Given the description of an element on the screen output the (x, y) to click on. 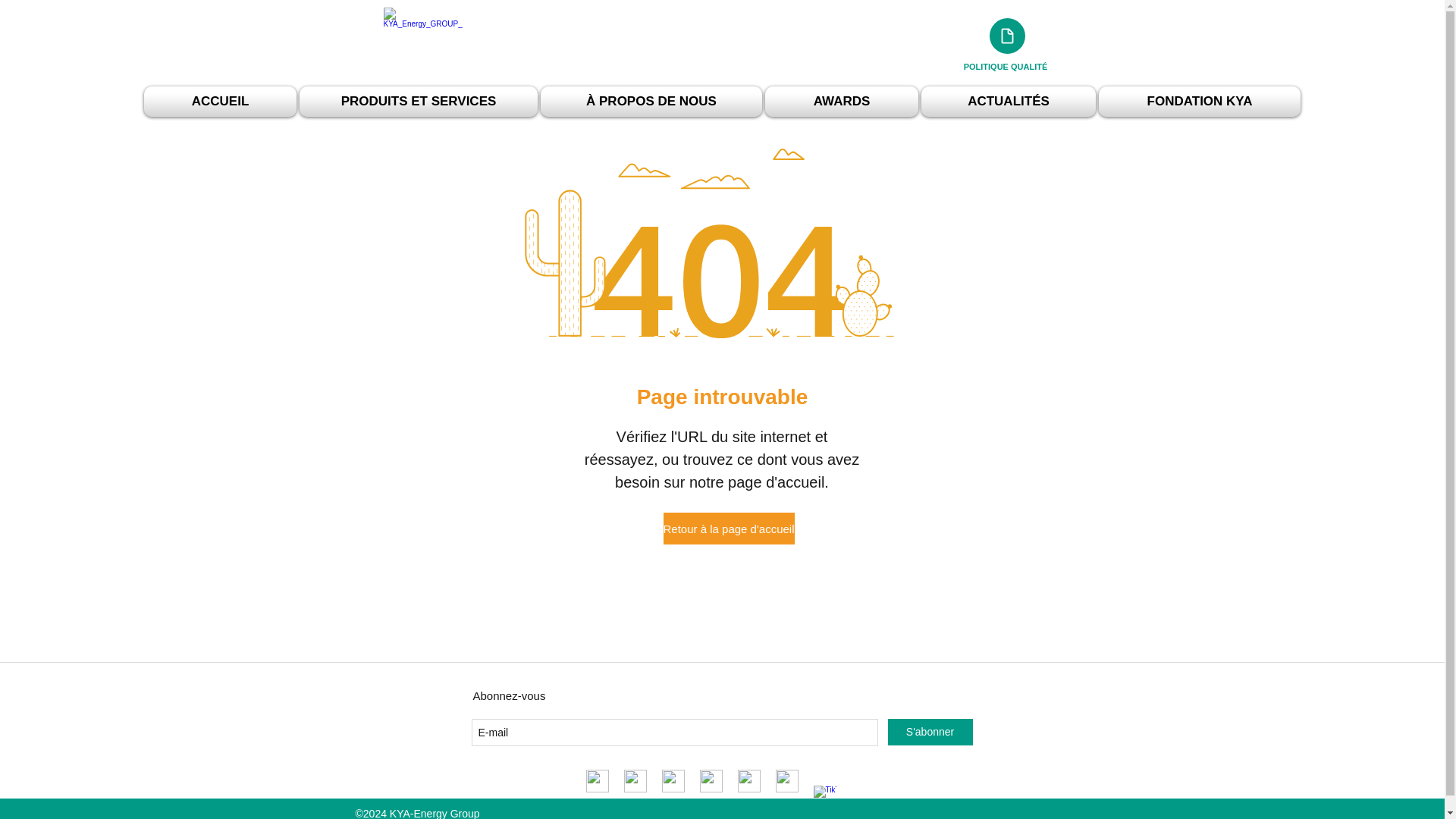
S'abonner (929, 732)
FONDATION KYA (1198, 101)
AWARDS (841, 101)
PRODUITS ET SERVICES (418, 101)
ACCUEIL (221, 101)
